Given the description of an element on the screen output the (x, y) to click on. 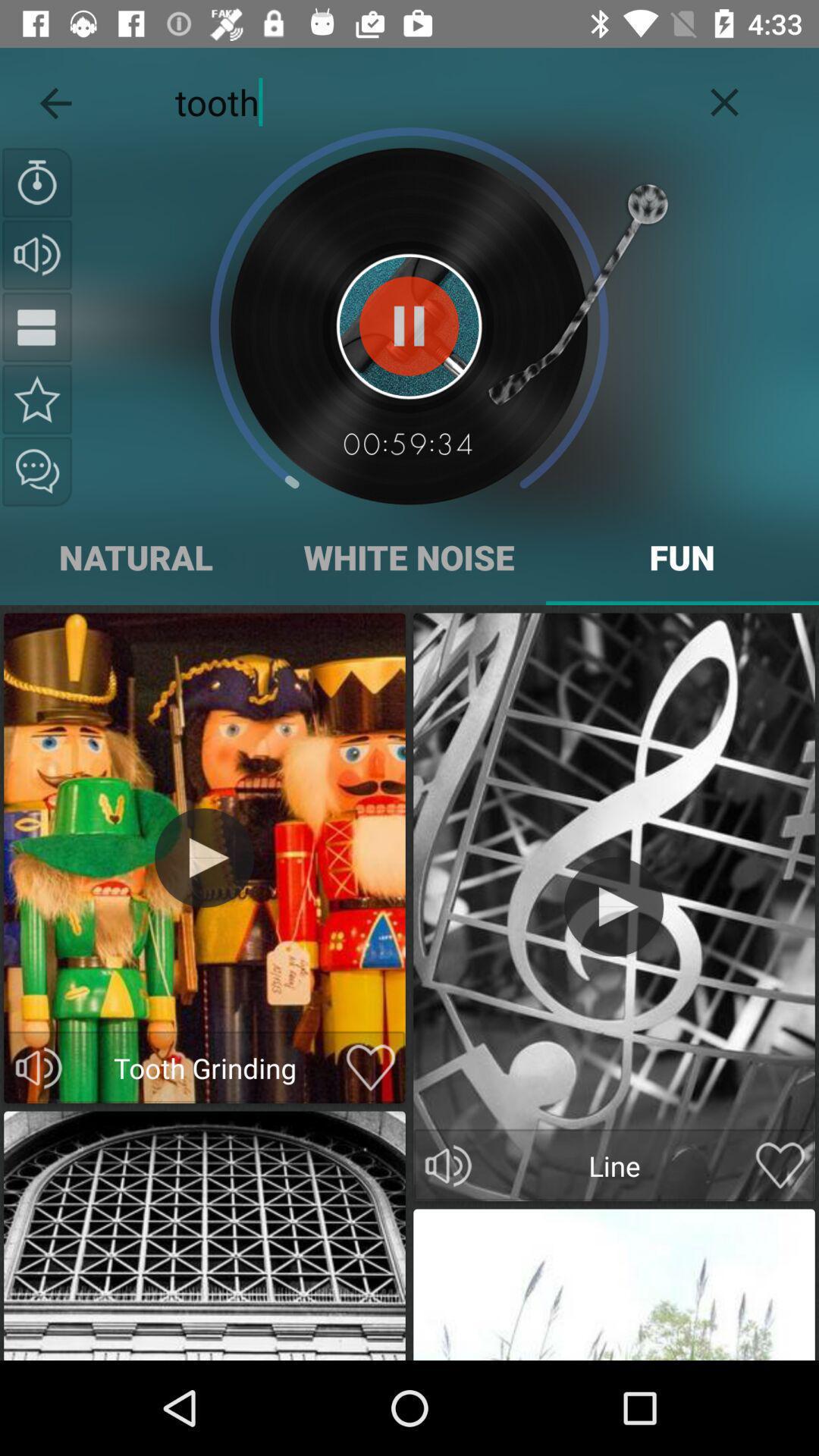
mark as favorite (37, 399)
